Given the description of an element on the screen output the (x, y) to click on. 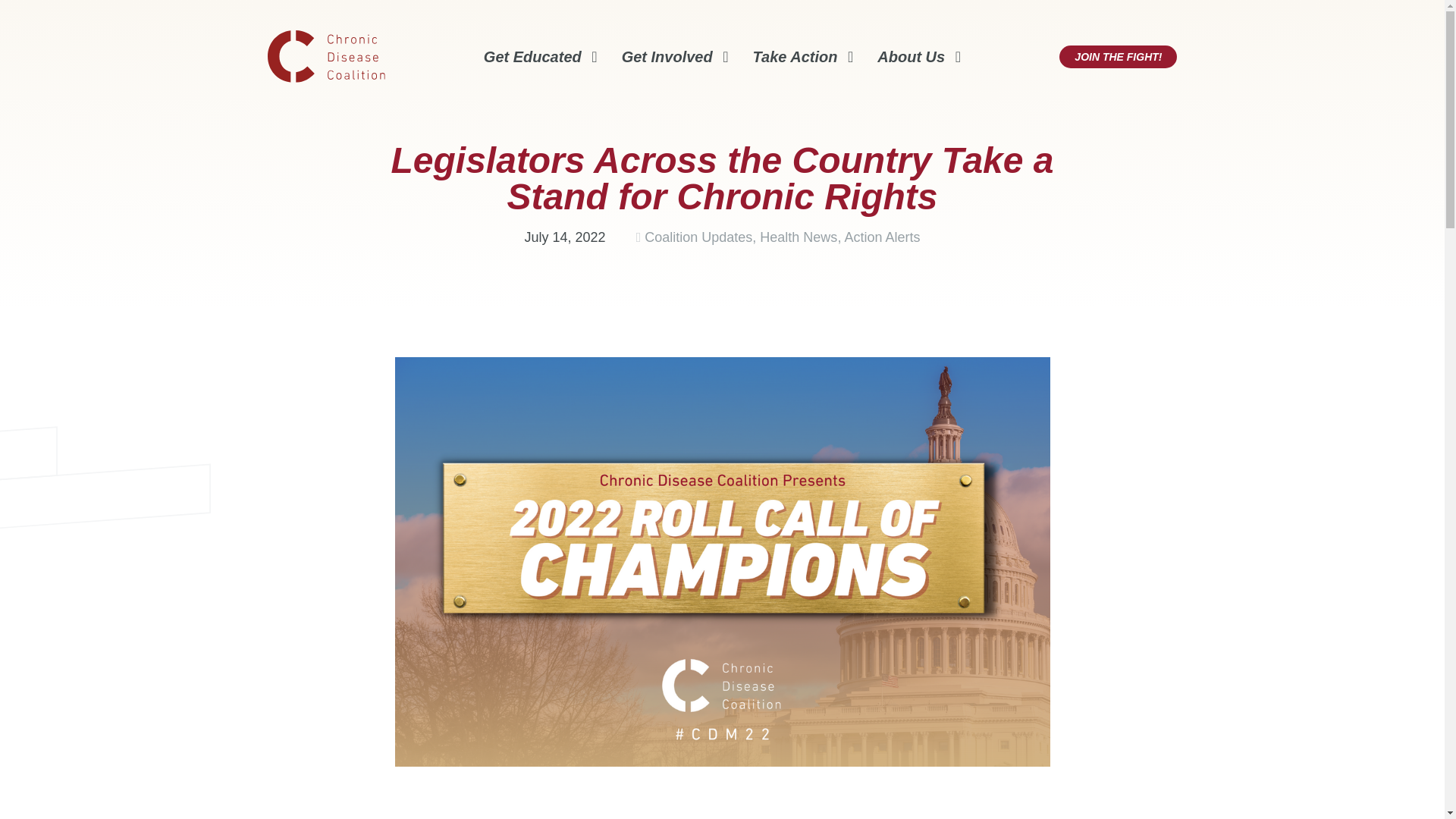
About Us (918, 56)
Coalition Updates (698, 237)
Action Alerts (882, 237)
JOIN THE FIGHT! (1117, 56)
Take Action (802, 56)
Health News (798, 237)
Get Educated (539, 56)
Get Involved (675, 56)
